Given the description of an element on the screen output the (x, y) to click on. 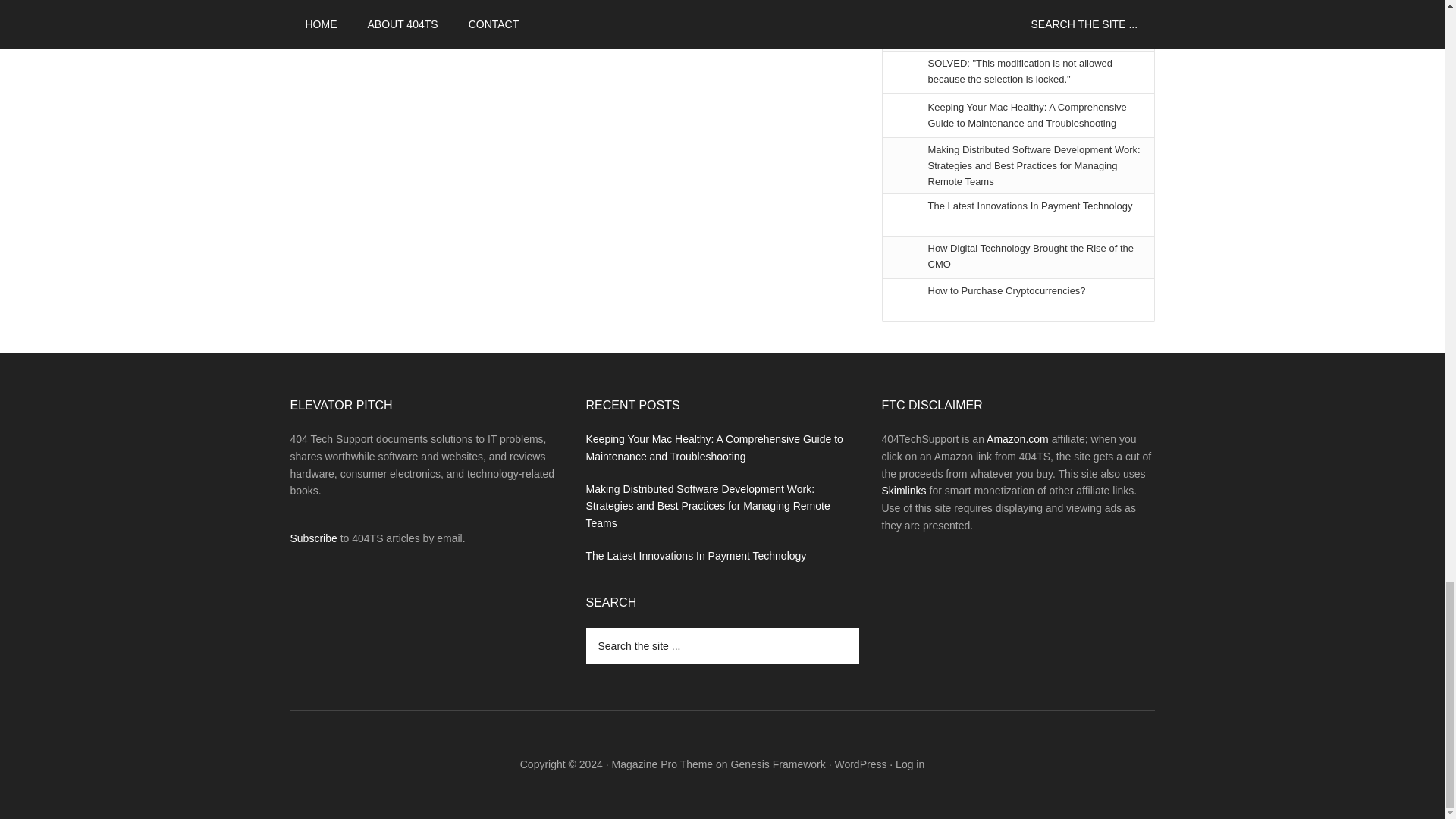
The Latest Innovations In Payment Technology (1030, 205)
How to Purchase Cryptocurrencies? (1007, 290)
SOLVED:  (1020, 71)
